Given the description of an element on the screen output the (x, y) to click on. 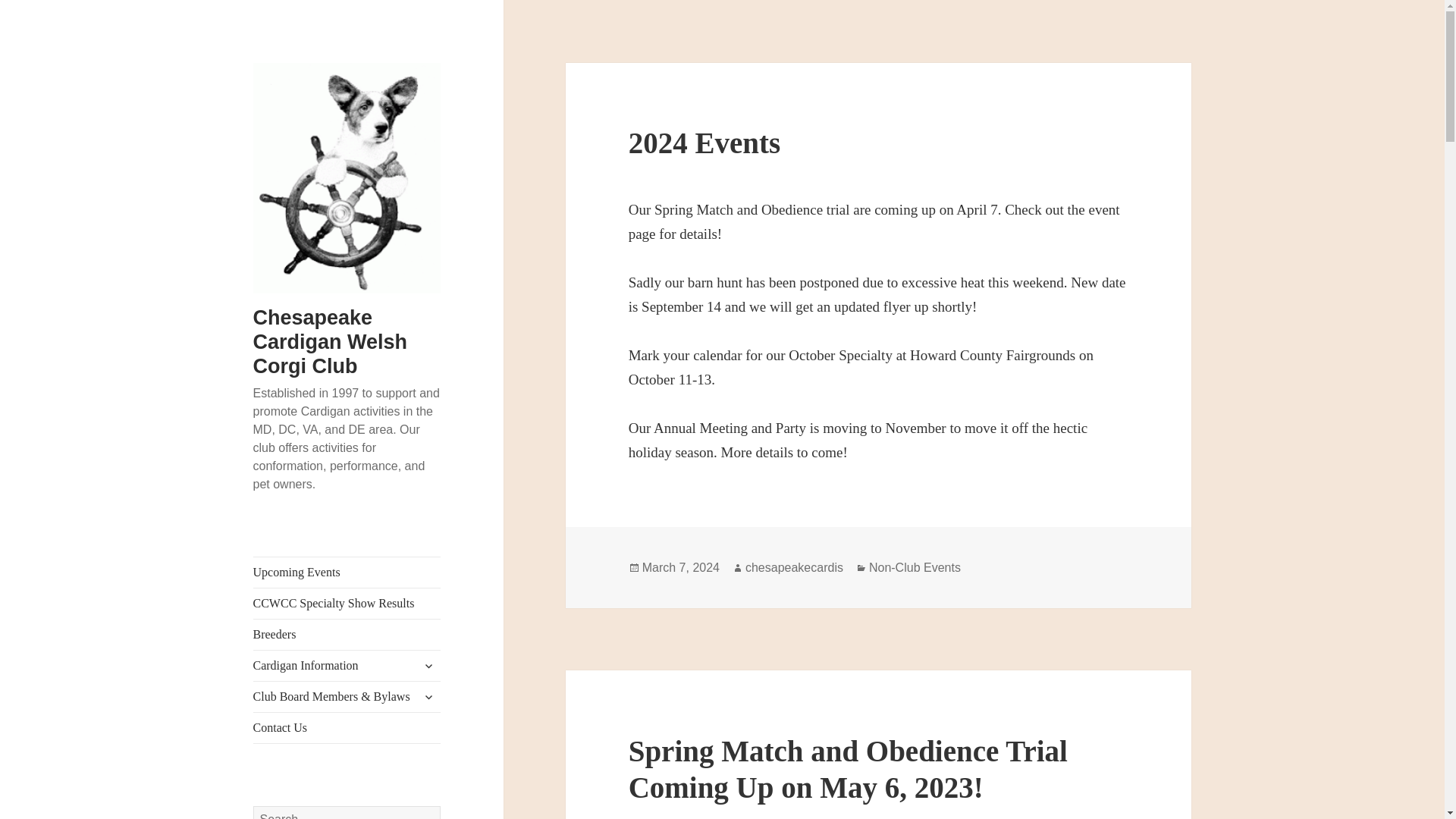
Upcoming Events (347, 572)
Breeders (347, 634)
expand child menu (428, 665)
CCWCC Specialty Show Results (347, 603)
Non-Club Events (914, 567)
expand child menu (428, 696)
Cardigan Information (347, 665)
Chesapeake Cardigan Welsh Corgi Club (330, 341)
Spring Match and Obedience Trial Coming Up on May 6, 2023! (847, 768)
2024 Events (704, 142)
Contact Us (347, 727)
March 7, 2024 (680, 567)
